Given the description of an element on the screen output the (x, y) to click on. 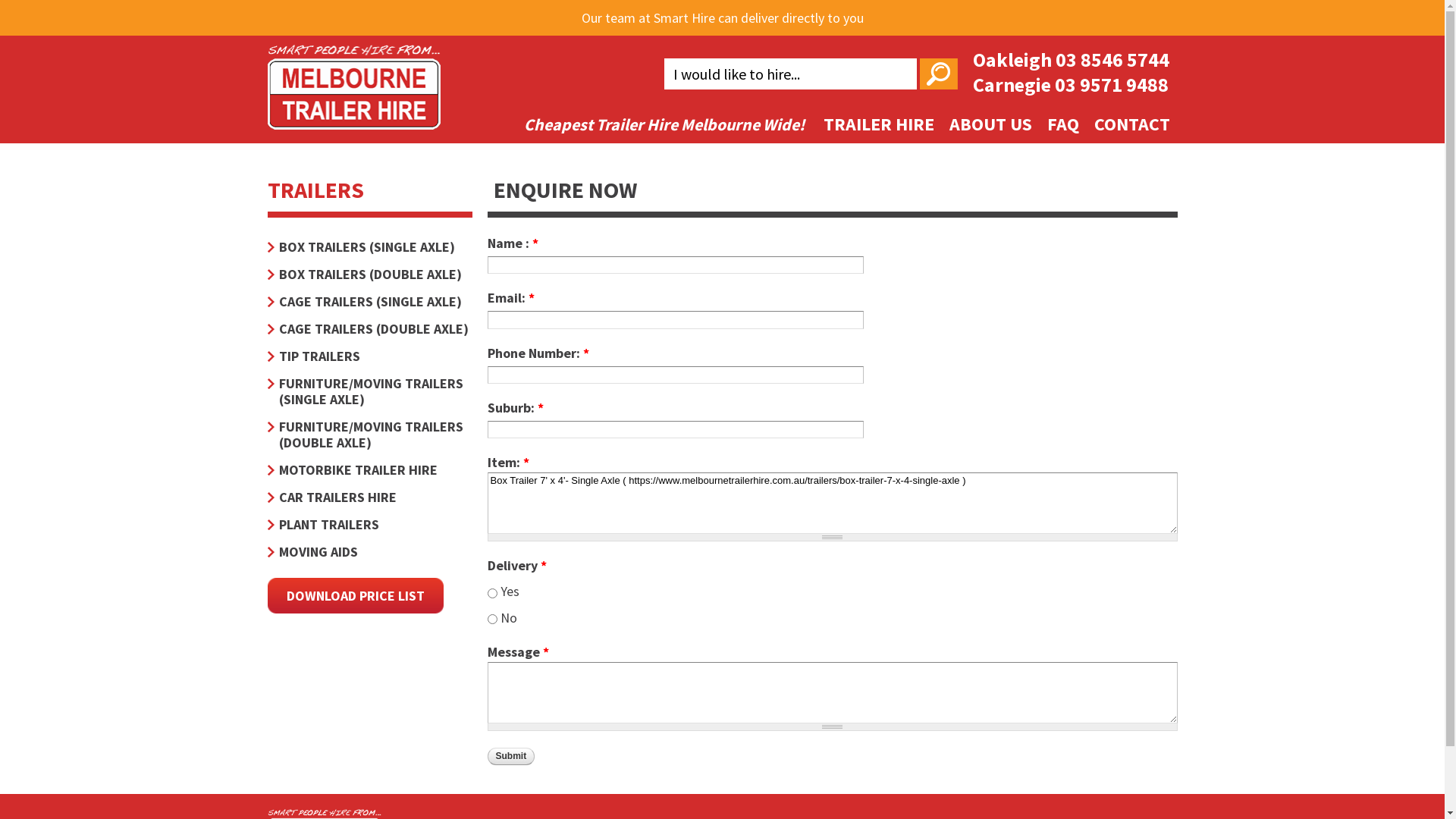
Search Element type: text (938, 73)
DOWNLOAD PRICE LIST Element type: text (354, 595)
Submit Element type: text (510, 756)
PLANT TRAILERS Element type: text (368, 524)
03 9571 9488 Element type: text (1110, 84)
TRAILER HIRE Element type: text (878, 123)
FAQ Element type: text (1061, 123)
ABOUT US Element type: text (990, 123)
Skip to main content Element type: text (680, 1)
FURNITURE/MOVING TRAILERS (SINGLE AXLE) Element type: text (368, 391)
Enter the terms you wish to search for. Element type: hover (790, 73)
MOVING AIDS Element type: text (368, 551)
MOTORBIKE TRAILER HIRE Element type: text (368, 469)
TIP TRAILERS Element type: text (368, 356)
CAGE TRAILERS (SINGLE AXLE) Element type: text (368, 301)
FURNITURE/MOVING TRAILERS (DOUBLE AXLE) Element type: text (368, 434)
CONTACT Element type: text (1130, 123)
CAGE TRAILERS (DOUBLE AXLE) Element type: text (368, 328)
03 8546 5744 Element type: text (1112, 59)
CAR TRAILERS HIRE Element type: text (368, 497)
BOX TRAILERS (DOUBLE AXLE) Element type: text (368, 274)
Trailer Rental Melbourne Element type: hover (352, 119)
BOX TRAILERS (SINGLE AXLE) Element type: text (368, 246)
